Given the description of an element on the screen output the (x, y) to click on. 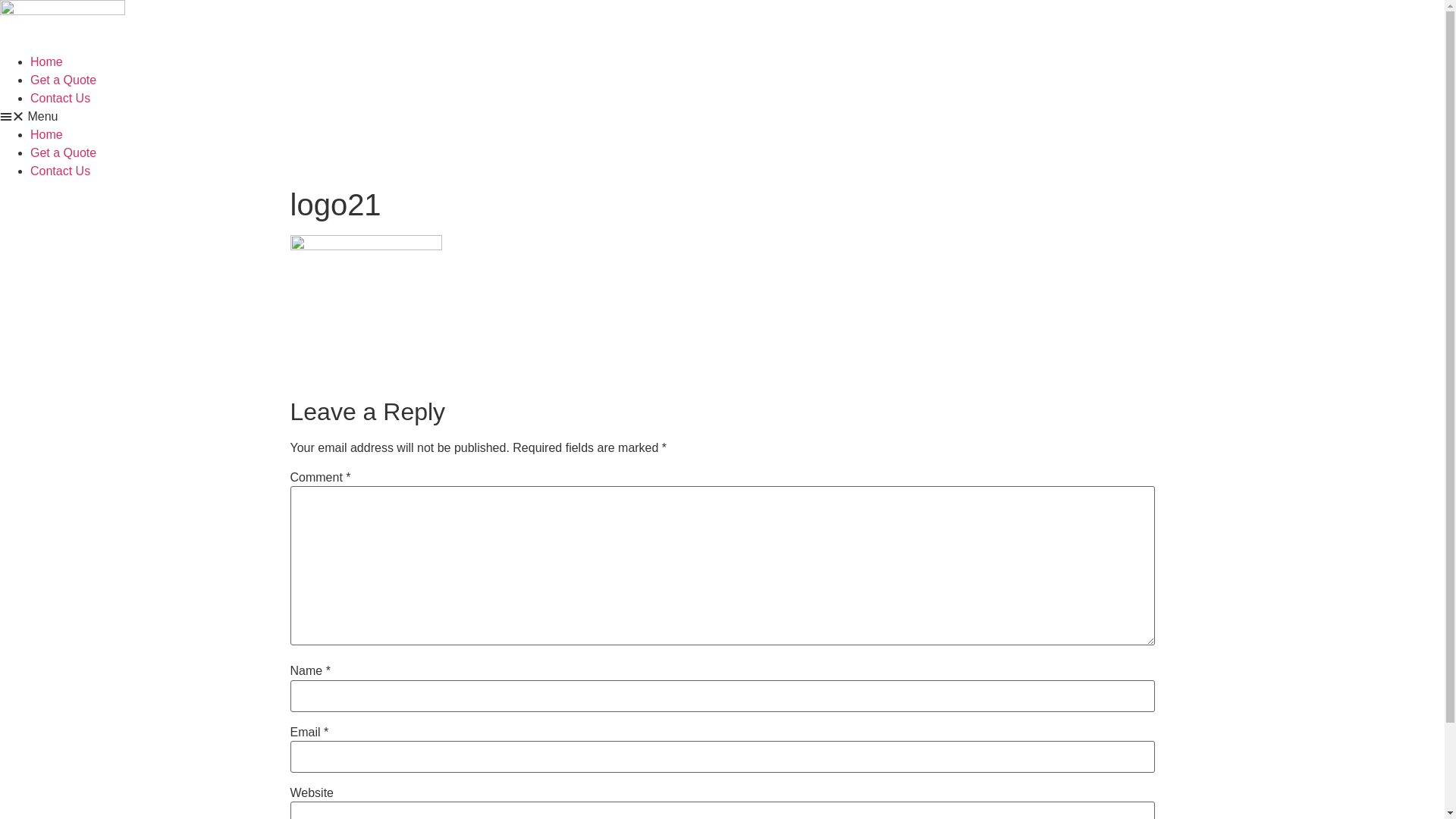
Home Element type: text (46, 134)
Contact Us Element type: text (60, 170)
Get a Quote Element type: text (63, 152)
Home Element type: text (46, 61)
Get a Quote Element type: text (63, 79)
Contact Us Element type: text (60, 97)
